Given the description of an element on the screen output the (x, y) to click on. 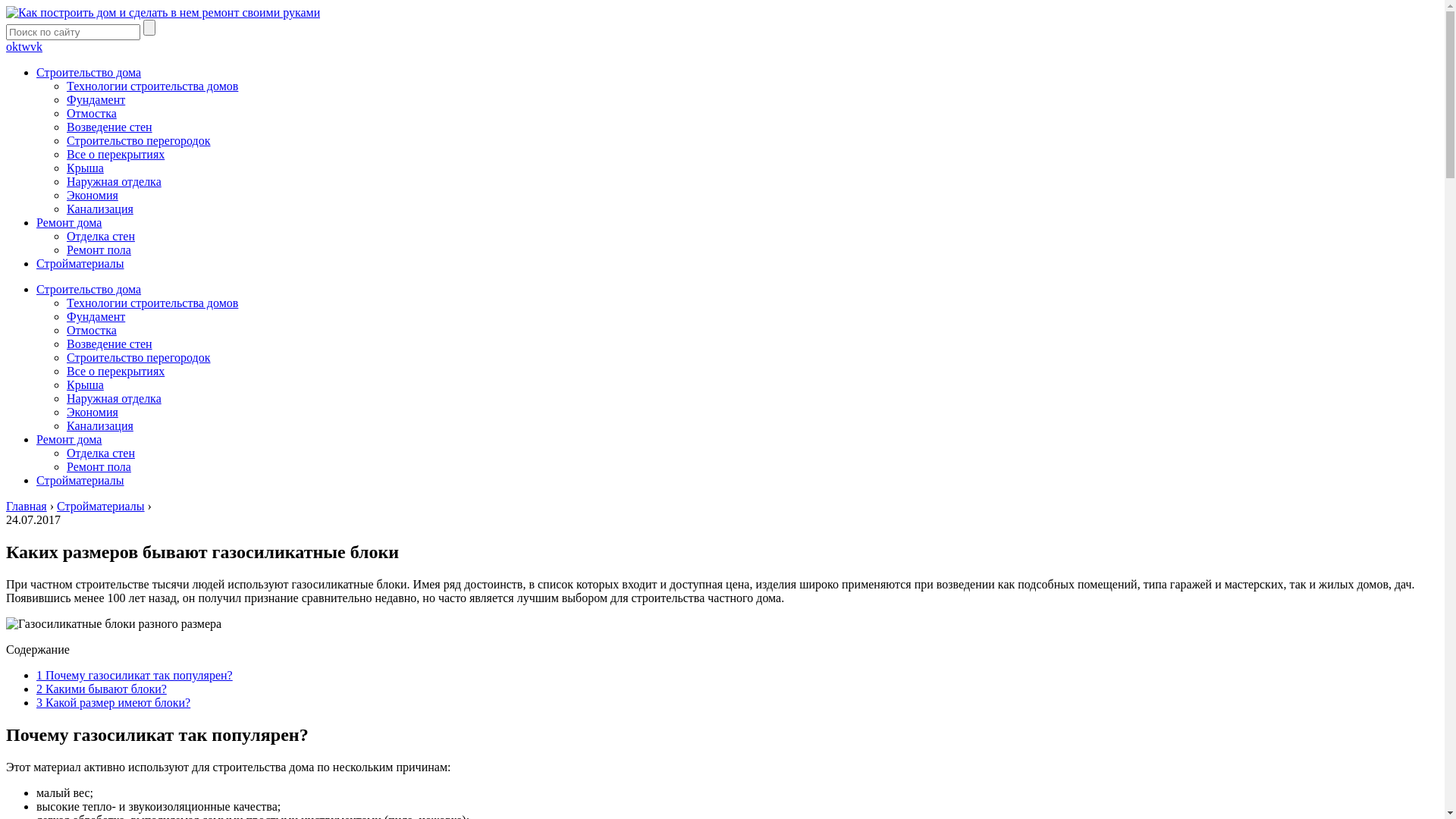
tw Element type: text (24, 46)
ok Element type: text (12, 46)
vk Element type: text (36, 46)
